Given the description of an element on the screen output the (x, y) to click on. 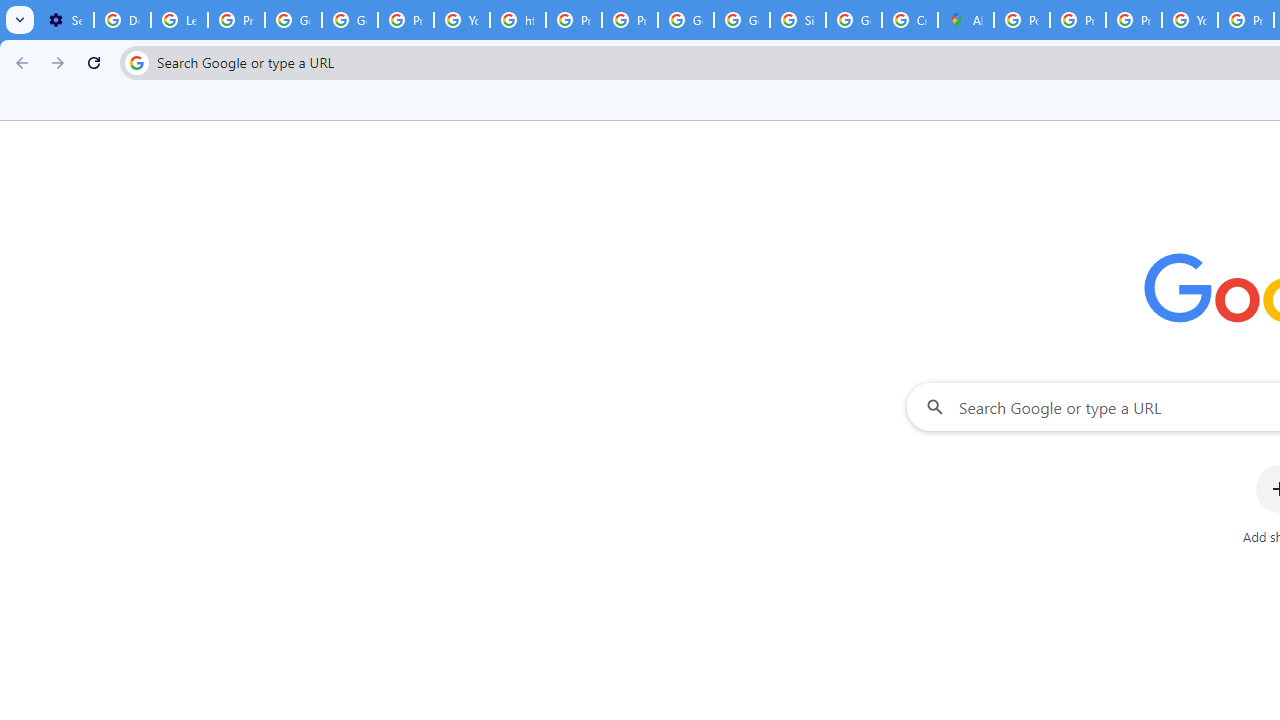
Privacy Help Center - Policies Help (1077, 20)
Privacy Help Center - Policies Help (573, 20)
Settings - On startup (65, 20)
Policy Accountability and Transparency - Transparency Center (1021, 20)
